Given the description of an element on the screen output the (x, y) to click on. 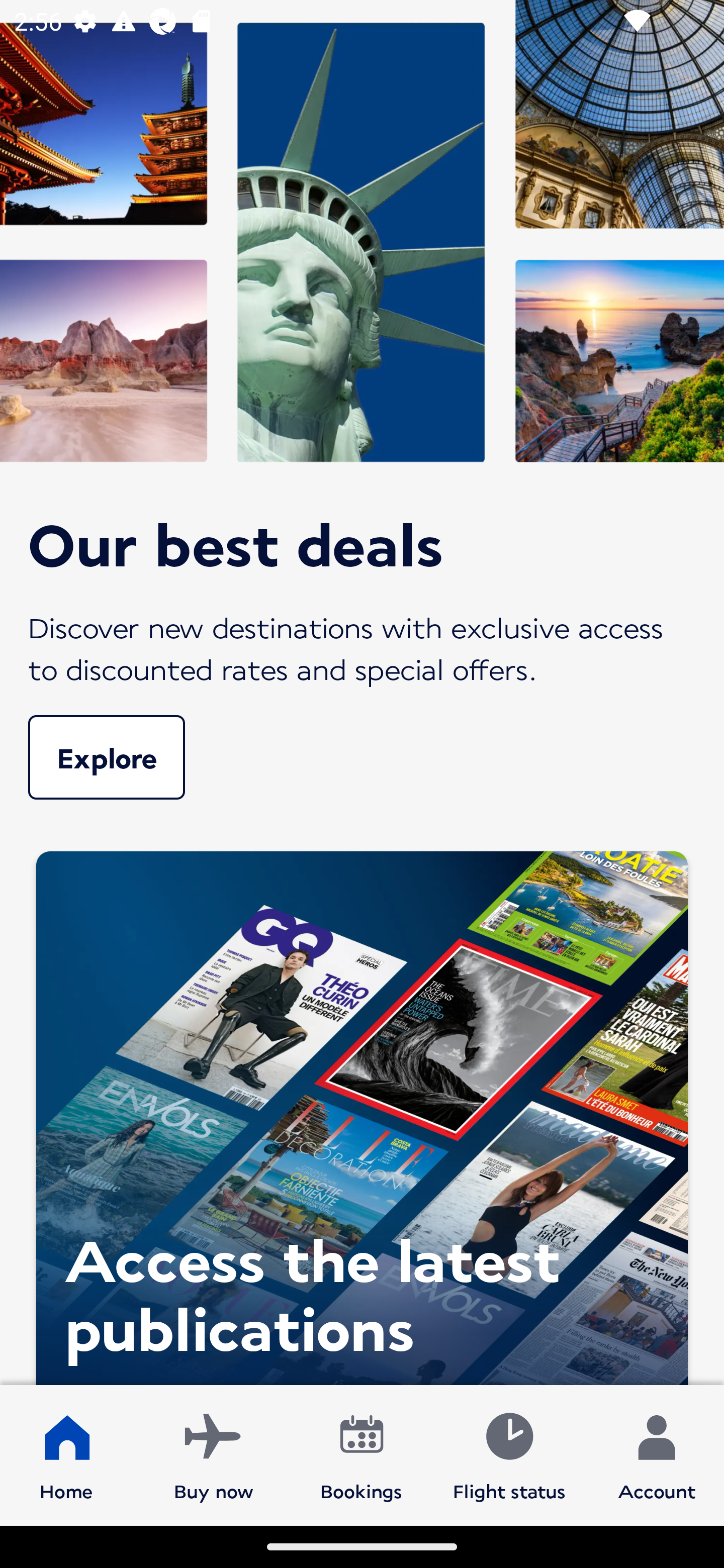
Access the latest publications (361, 1113)
Buy now (213, 1454)
Bookings (361, 1454)
Flight status (509, 1454)
Account (657, 1454)
